Given the description of an element on the screen output the (x, y) to click on. 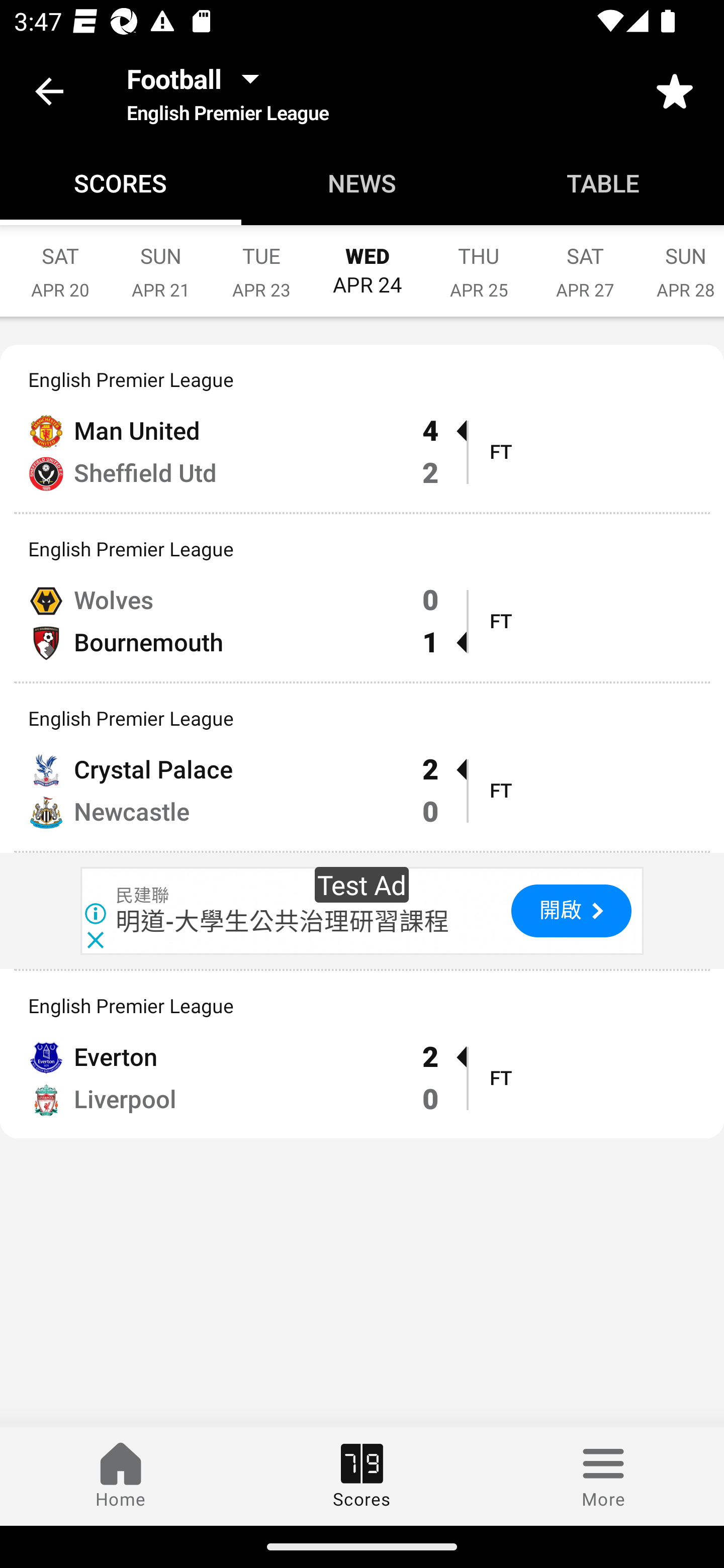
Football English Premier League (227, 90)
Favorite toggle (674, 90)
News NEWS (361, 183)
Table TABLE (603, 183)
SAT APR 20 (60, 262)
SUN APR 21 (160, 262)
TUE APR 23 (261, 262)
WED APR 24 (367, 262)
THU APR 25 (479, 262)
SAT APR 27 (585, 262)
SUN APR 28 (679, 262)
English Premier League Wolves 0 Bournemouth 1  FT (362, 598)
民建聯 (142, 895)
開啟 (570, 910)
明道-大學生公共治理研習課程 (282, 921)
English Premier League Everton 2  Liverpool 0 FT (362, 1054)
Home (120, 1475)
More (603, 1475)
